Given the description of an element on the screen output the (x, y) to click on. 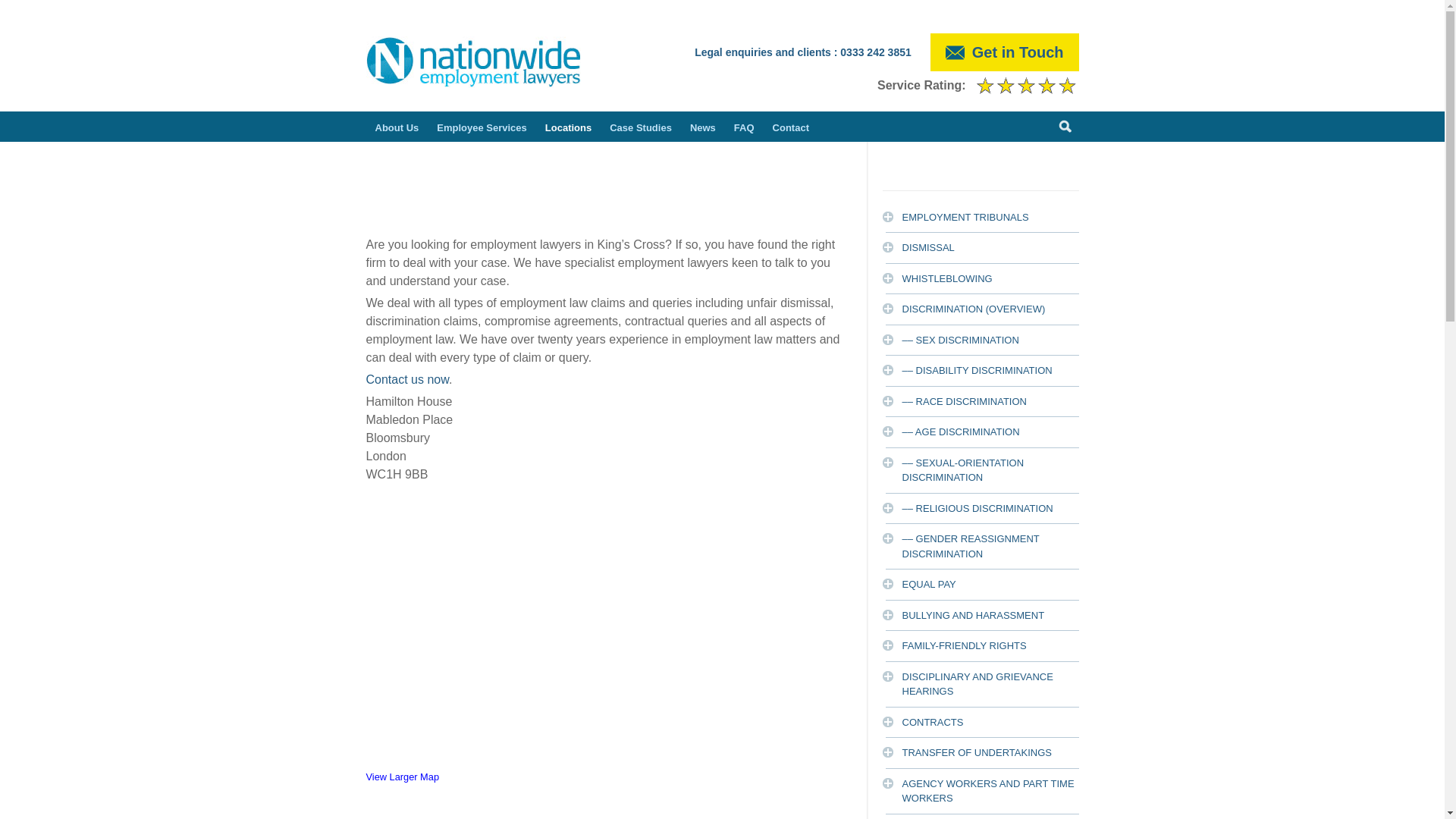
Legal enquiries and clients : 0333 242 3851 (802, 51)
Locations (567, 126)
About Us (396, 126)
Get in Touch (1004, 52)
Employee Services (481, 126)
Contact (406, 379)
